Given the description of an element on the screen output the (x, y) to click on. 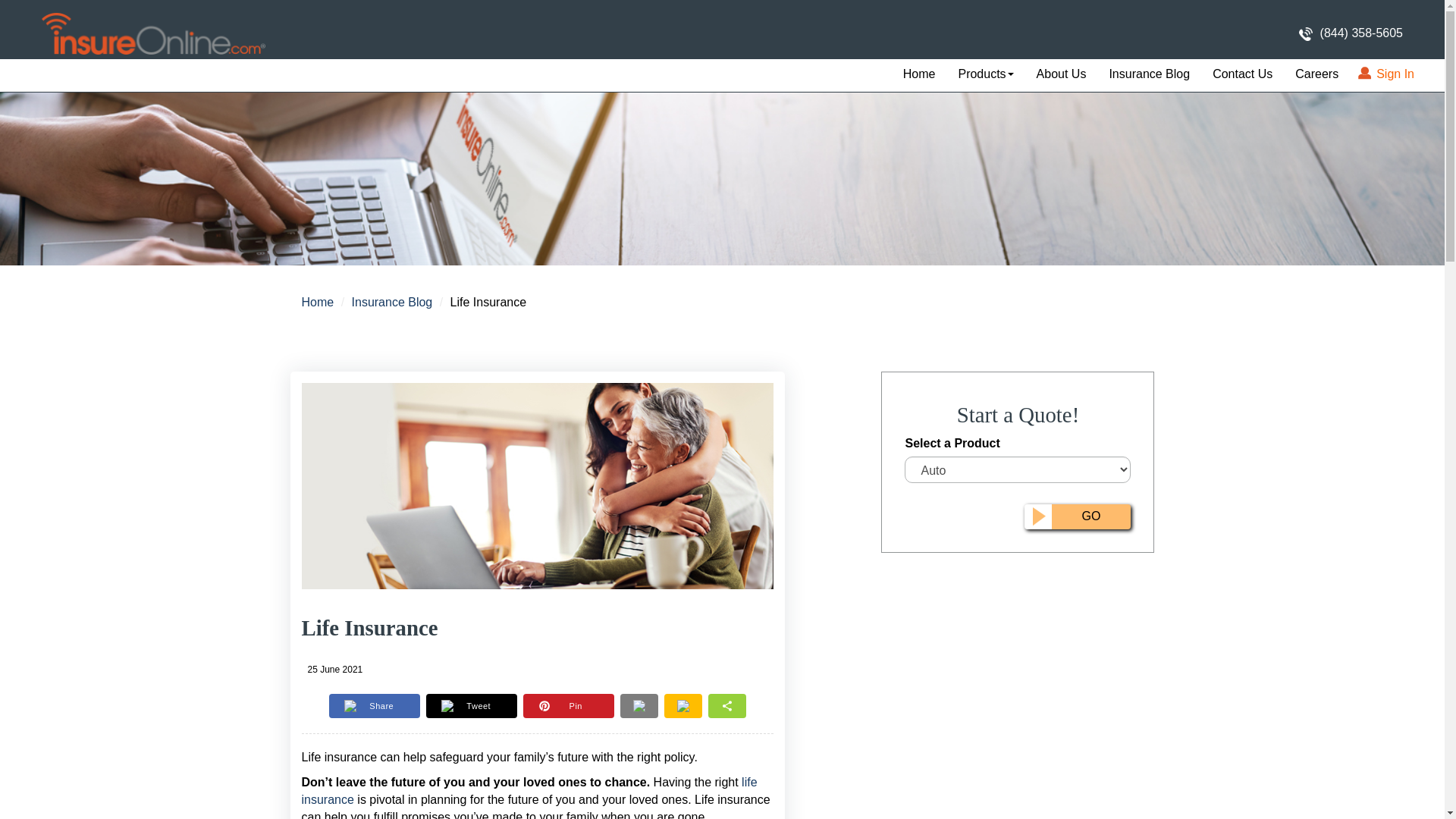
Home (317, 301)
Home (919, 74)
GO (1078, 516)
Insurance Blog (1149, 74)
Sign In (1387, 74)
Insurance Blog (392, 301)
Products (985, 74)
Careers (1316, 74)
Contact Us (1242, 74)
About Us (1061, 74)
